Given the description of an element on the screen output the (x, y) to click on. 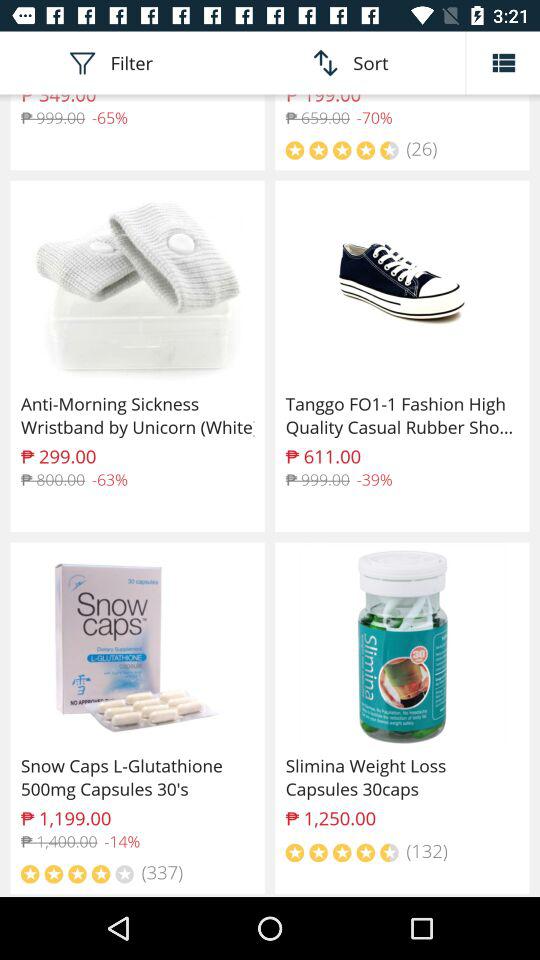
creat/ view wish list (503, 62)
